Given the description of an element on the screen output the (x, y) to click on. 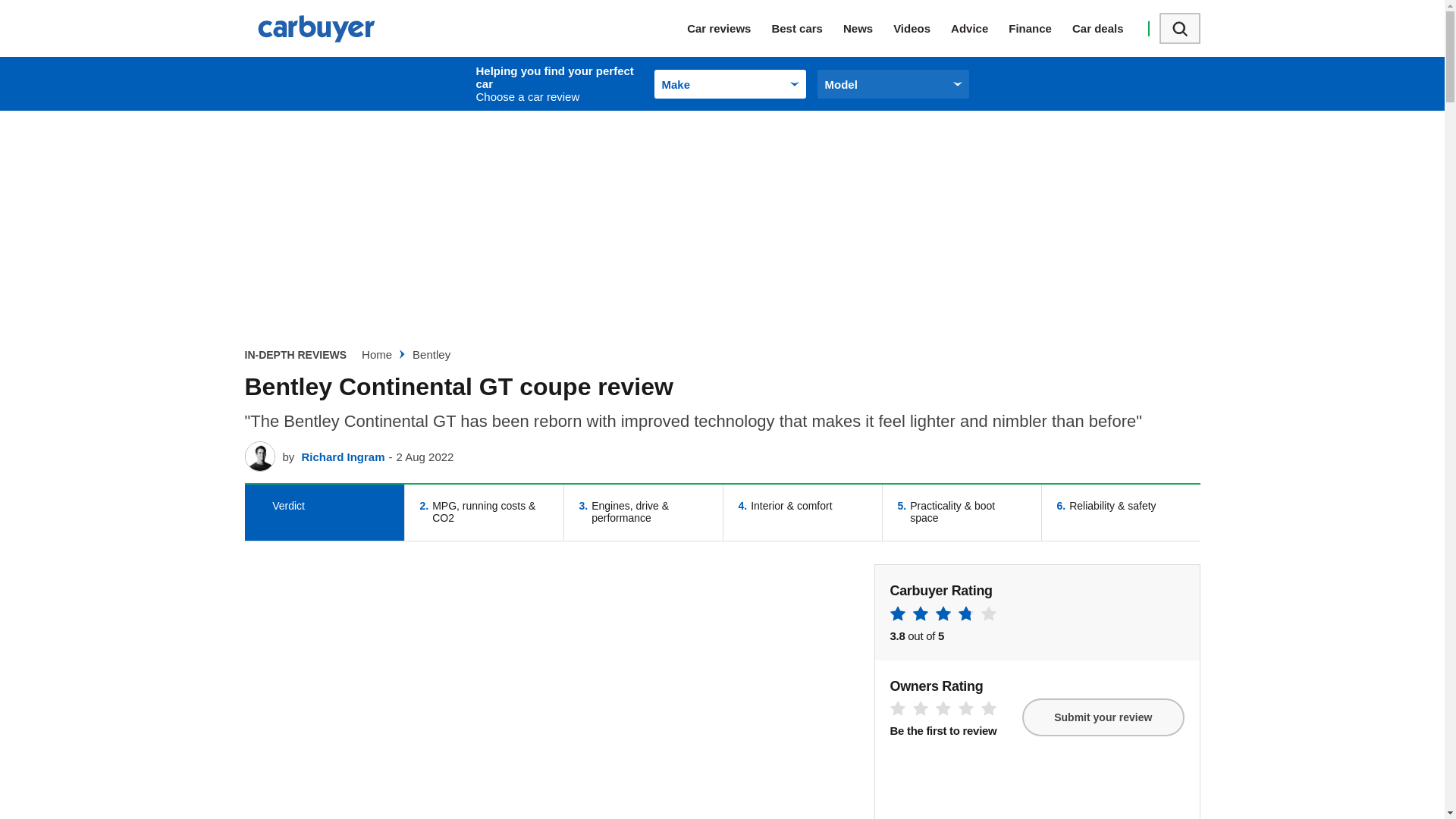
Submit your review (1102, 717)
Car reviews (729, 27)
Home (376, 354)
0 Stars (942, 711)
Advice (979, 27)
News (868, 27)
3.8 Stars (942, 615)
Best cars (807, 27)
Search (323, 512)
Finance (1178, 28)
3rd party ad content (1040, 27)
Leave your review (430, 354)
